Given the description of an element on the screen output the (x, y) to click on. 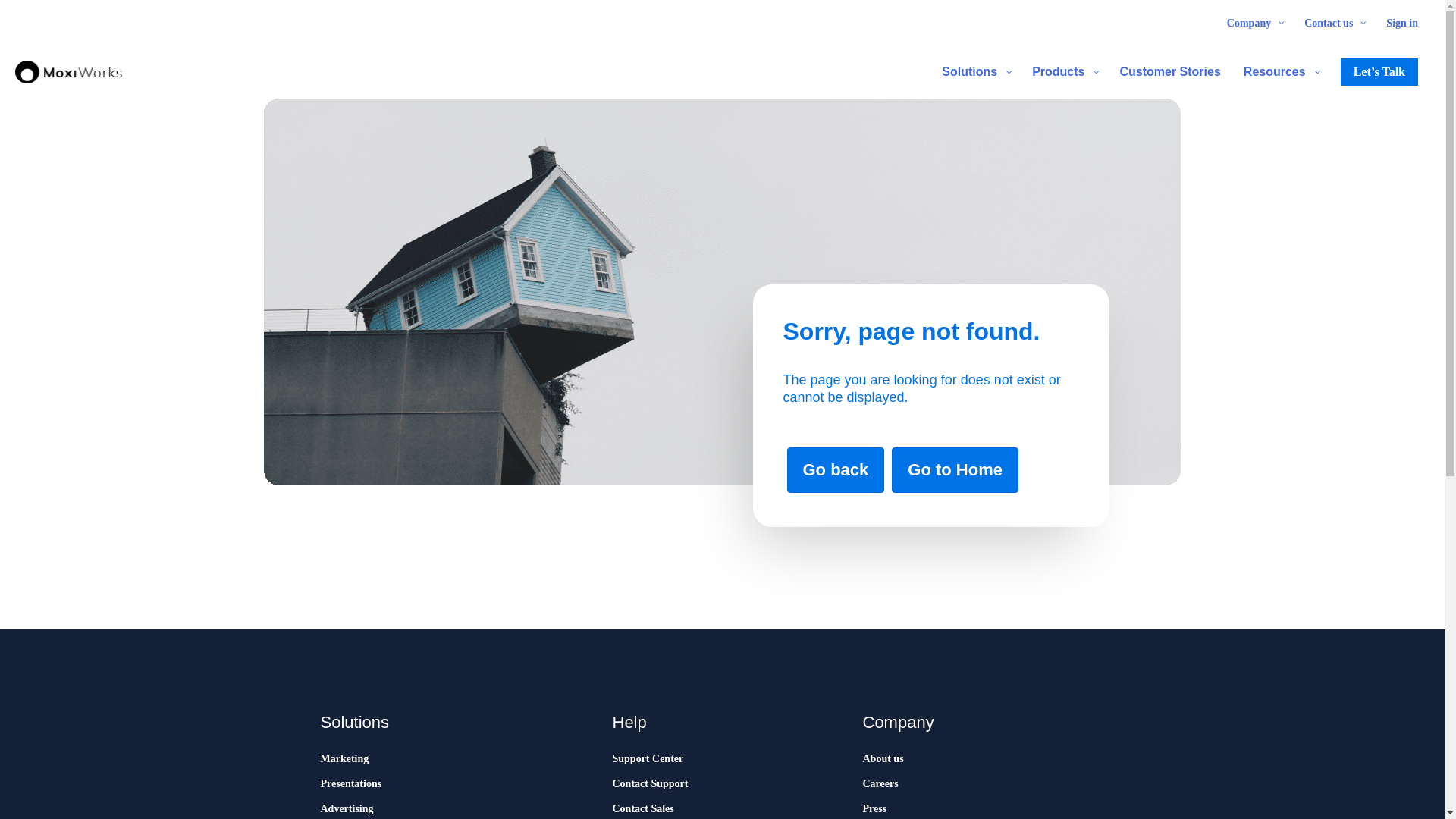
Company (1253, 22)
Solutions (975, 72)
Sign in (1401, 22)
Contact us (1333, 22)
Products (1064, 72)
